Given the description of an element on the screen output the (x, y) to click on. 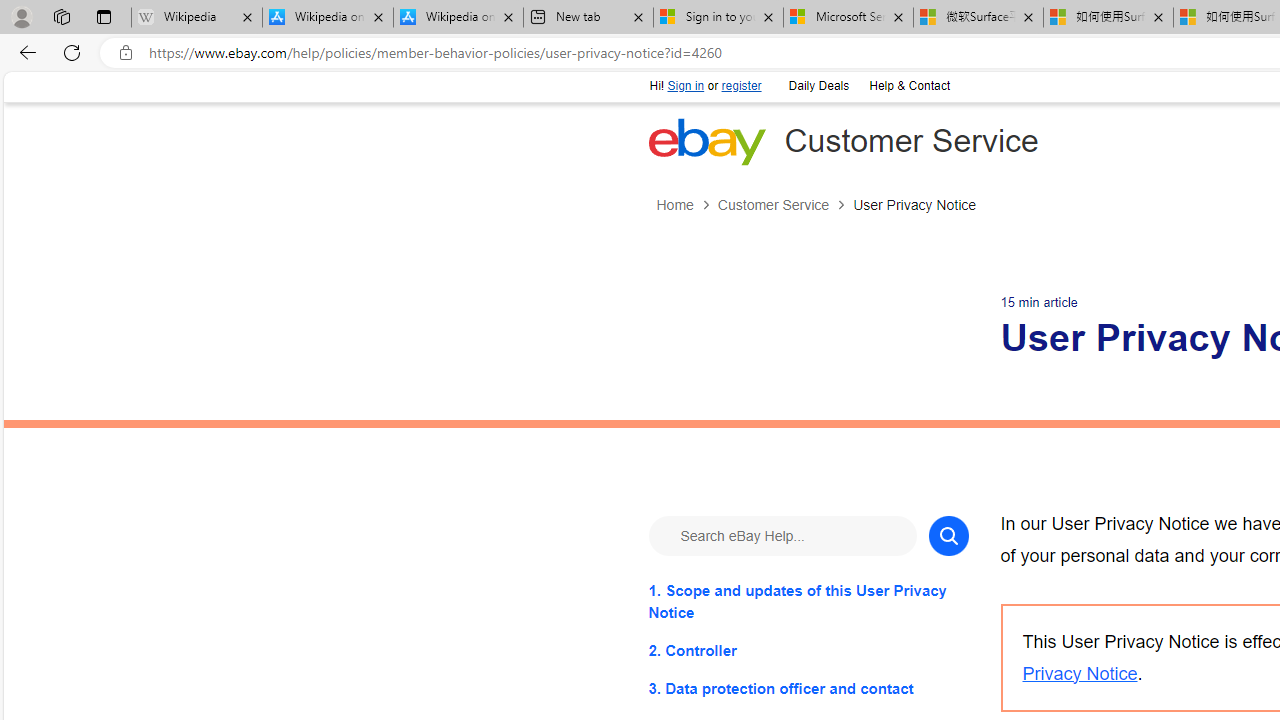
1. Scope and updates of this User Privacy Notice (807, 601)
3. Data protection officer and contact (807, 687)
eBay Home (706, 141)
2. Controller (807, 650)
Daily Deals (818, 86)
User Privacy Notice (914, 205)
1. Scope and updates of this User Privacy Notice (807, 601)
Daily Deals (817, 84)
